Given the description of an element on the screen output the (x, y) to click on. 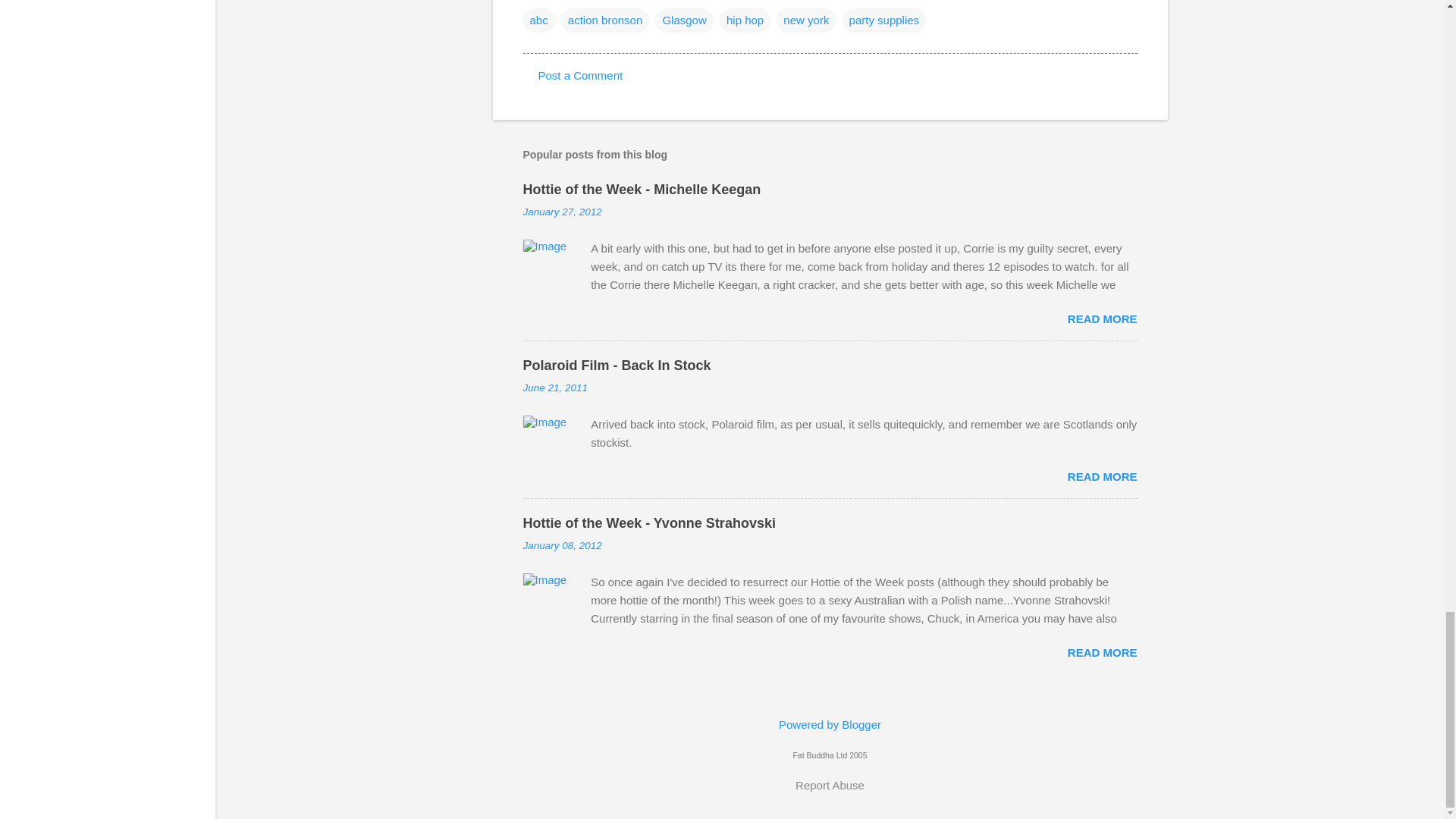
new york (805, 20)
Hottie of the Week - Michelle Keegan (641, 189)
Post a Comment (580, 74)
permanent link (562, 211)
hip hop (744, 20)
action bronson (604, 20)
Glasgow (684, 20)
abc (538, 20)
party supplies (884, 20)
